Given the description of an element on the screen output the (x, y) to click on. 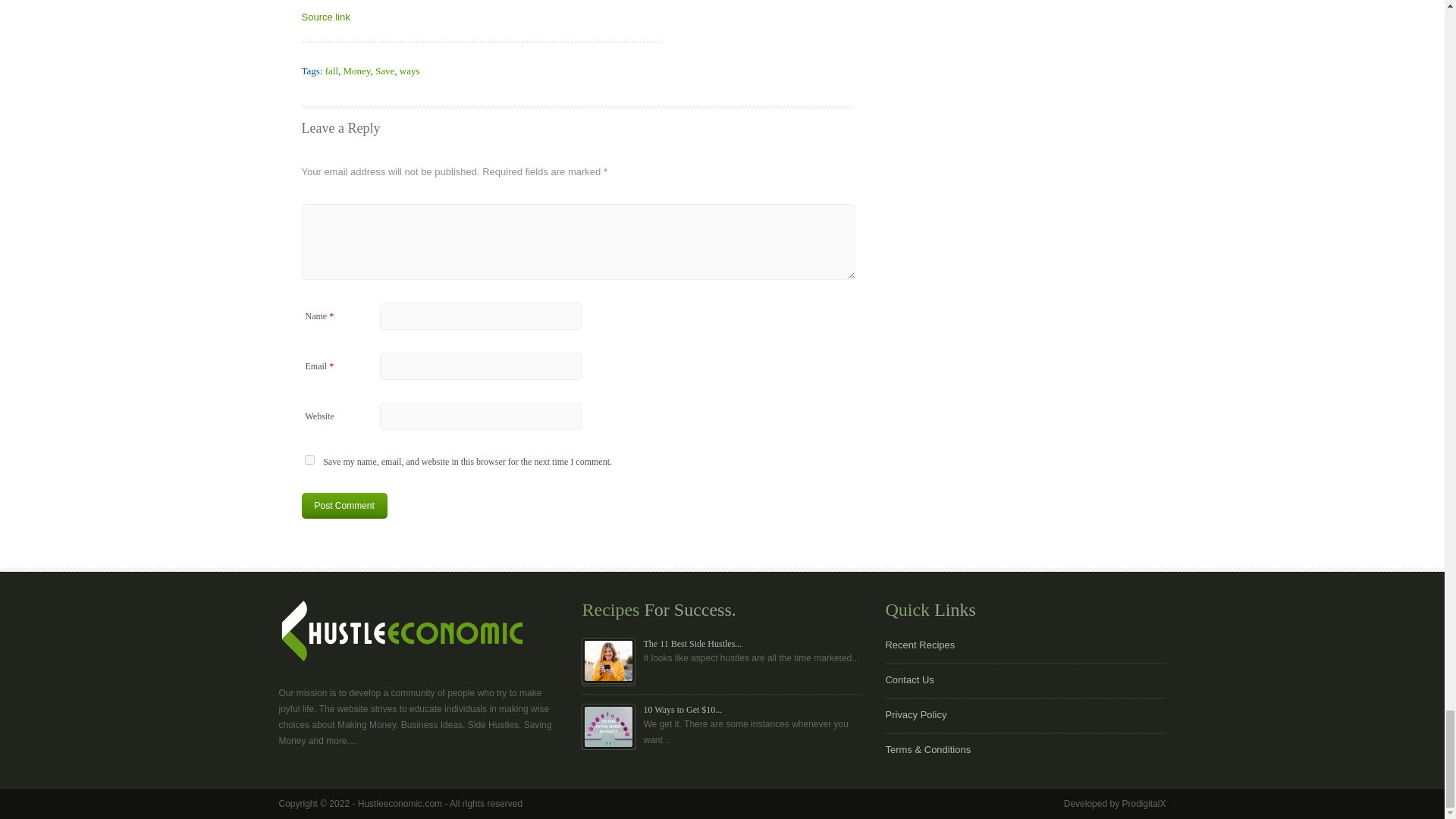
Money (357, 70)
Save (384, 70)
Source link (325, 16)
ways (409, 70)
Post Comment (344, 505)
yes (309, 460)
fall (330, 70)
Post Comment (344, 505)
